Given the description of an element on the screen output the (x, y) to click on. 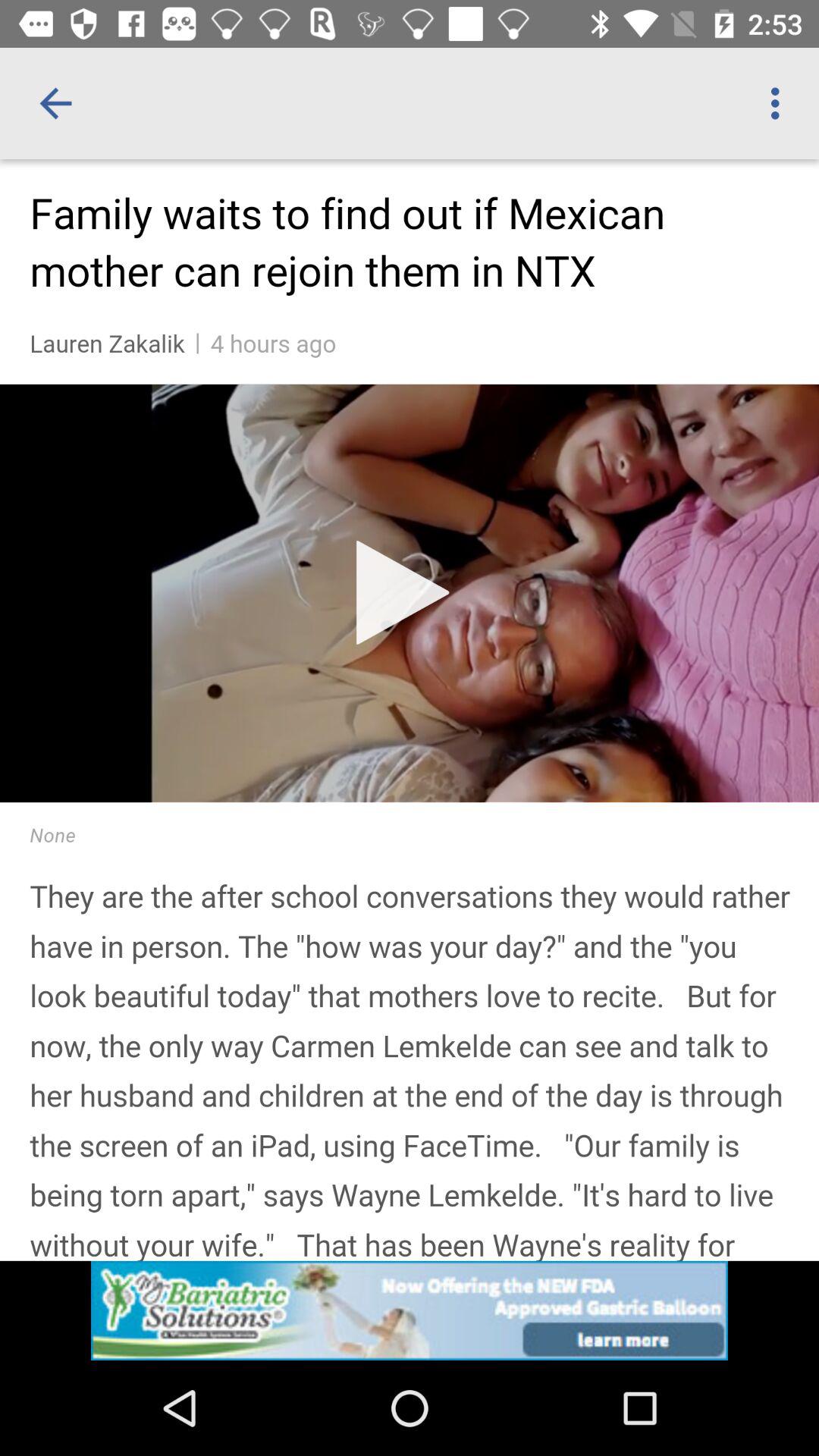
install the app (409, 1310)
